Given the description of an element on the screen output the (x, y) to click on. 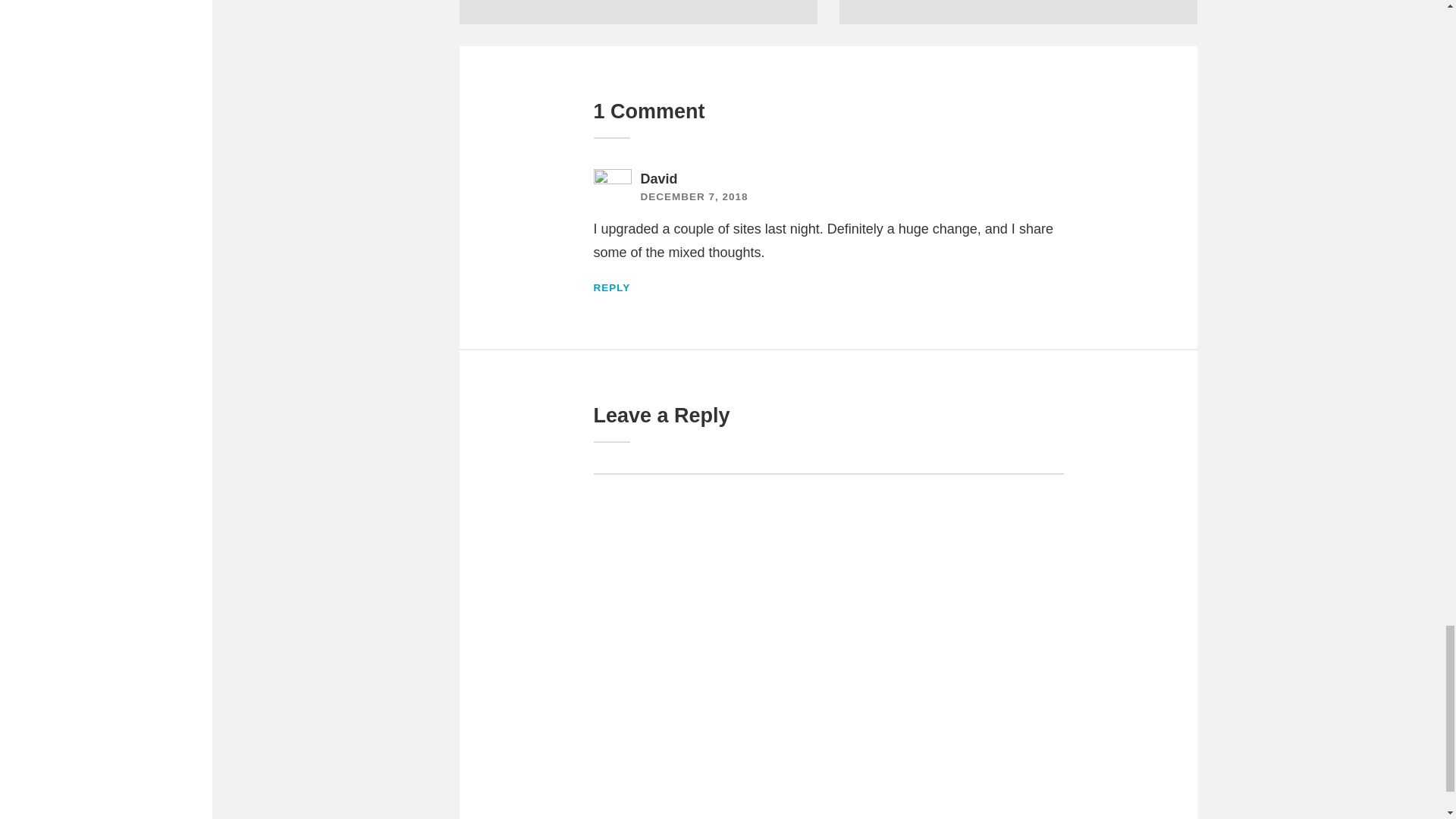
REPLY (611, 287)
DECEMBER 7, 2018 (694, 196)
David (658, 178)
